Given the description of an element on the screen output the (x, y) to click on. 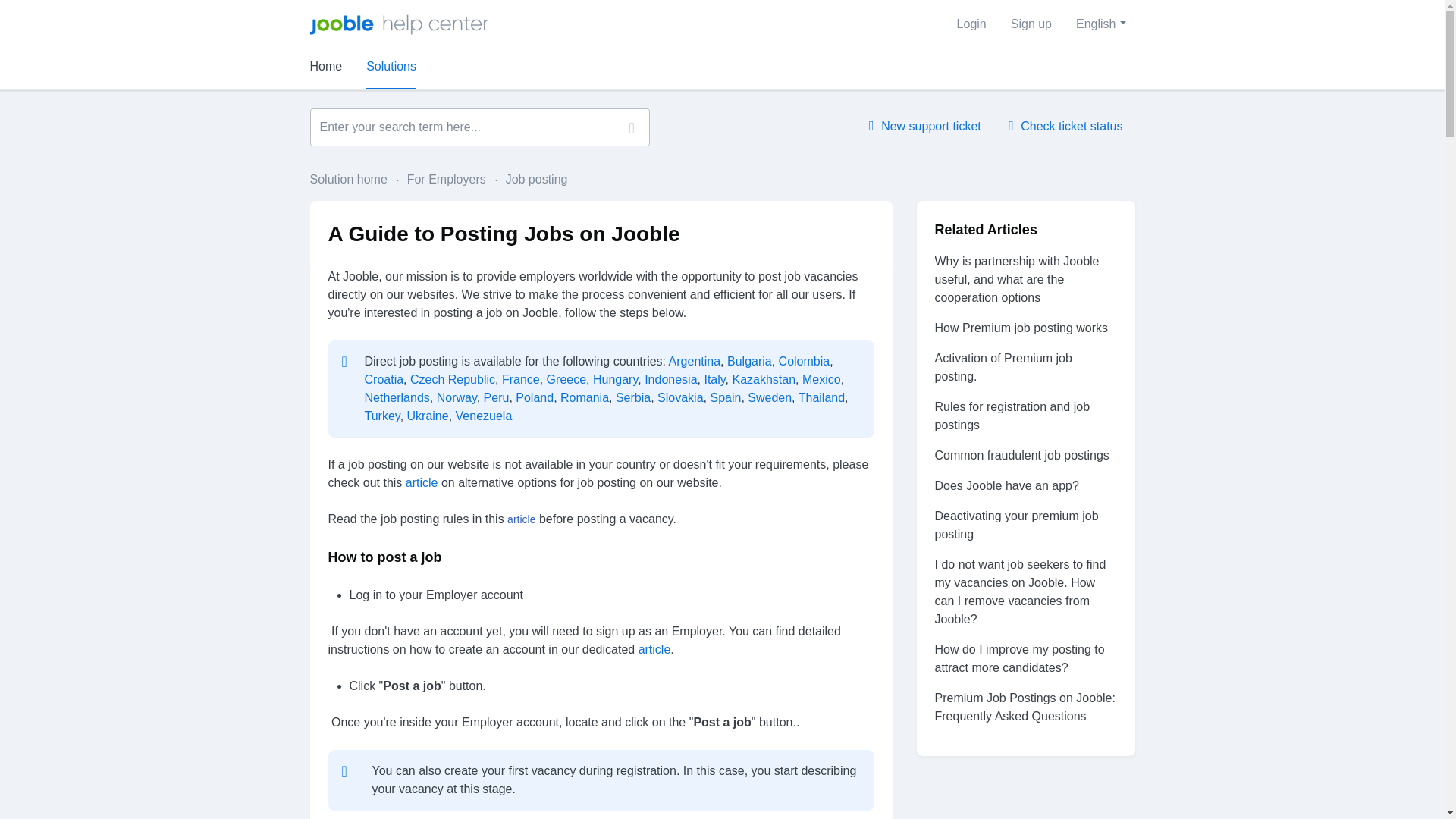
Netherlands (396, 397)
Peru (496, 397)
New support ticket (924, 126)
Help widget launcher (1379, 781)
Kazakhstan (763, 379)
Solution home (349, 178)
Hungary (614, 379)
New support ticket (924, 126)
Check ticket status (1064, 126)
Bulgaria (748, 360)
